Given the description of an element on the screen output the (x, y) to click on. 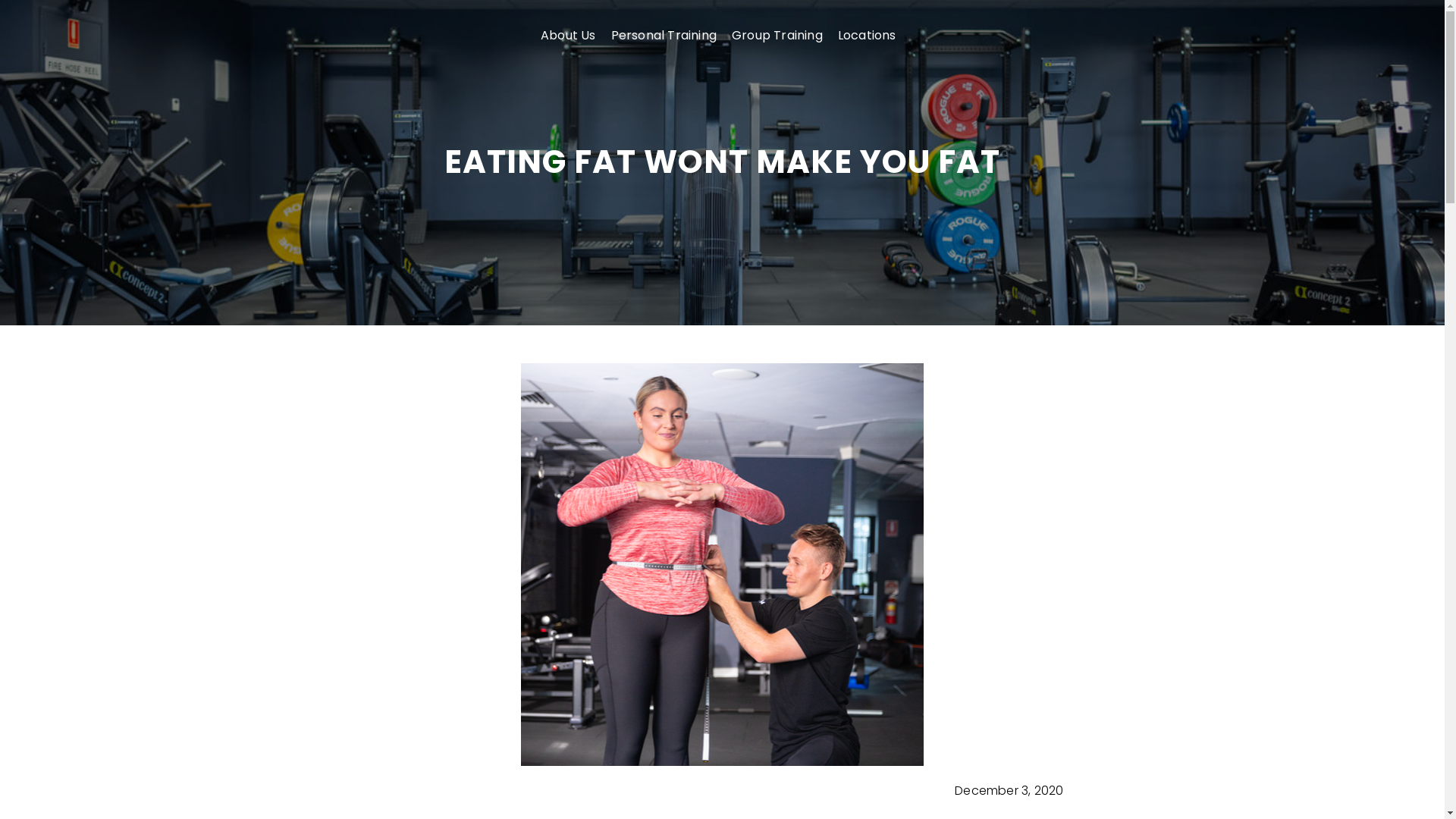
Locations Element type: text (866, 35)
Personal Training Element type: text (663, 35)
Group Training Element type: text (777, 35)
CONTACT US Element type: text (1109, 35)
About Us Element type: text (568, 35)
